Given the description of an element on the screen output the (x, y) to click on. 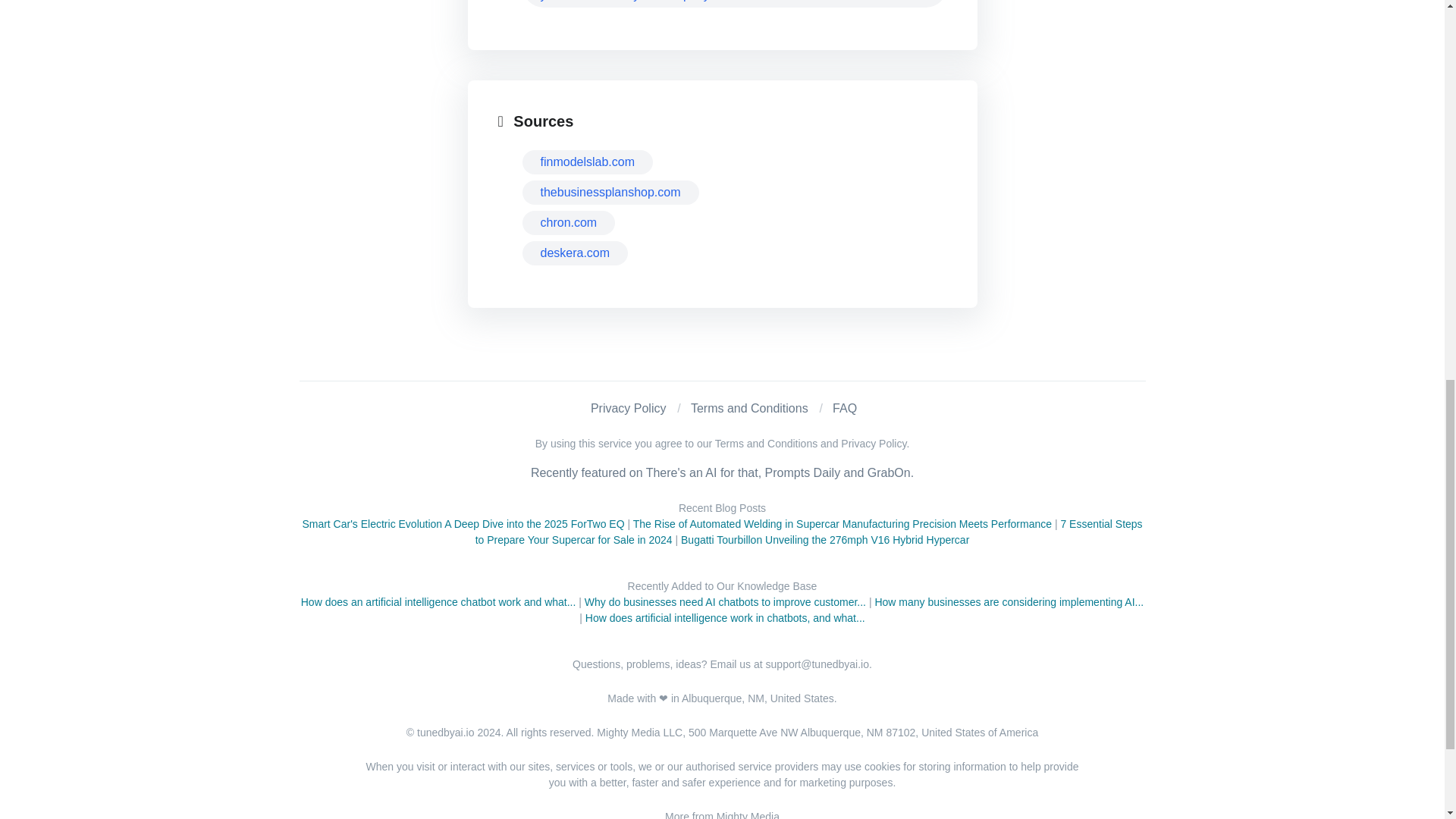
How many businesses are considering implementing AI... (1008, 602)
chron.com (567, 222)
Terms and Conditions (749, 408)
Why do businesses need AI chatbots to improve customer... (725, 602)
thebusinessplanshop.com (609, 192)
7 Essential Steps to Prepare Your Supercar for Sale in 2024 (809, 531)
FAQ (844, 408)
deskera.com (574, 252)
Privacy Policy (628, 408)
Bugatti Tourbillon Unveiling the 276mph V16 Hybrid Hypercar (825, 539)
How does an artificial intelligence chatbot work and what... (438, 602)
